Given the description of an element on the screen output the (x, y) to click on. 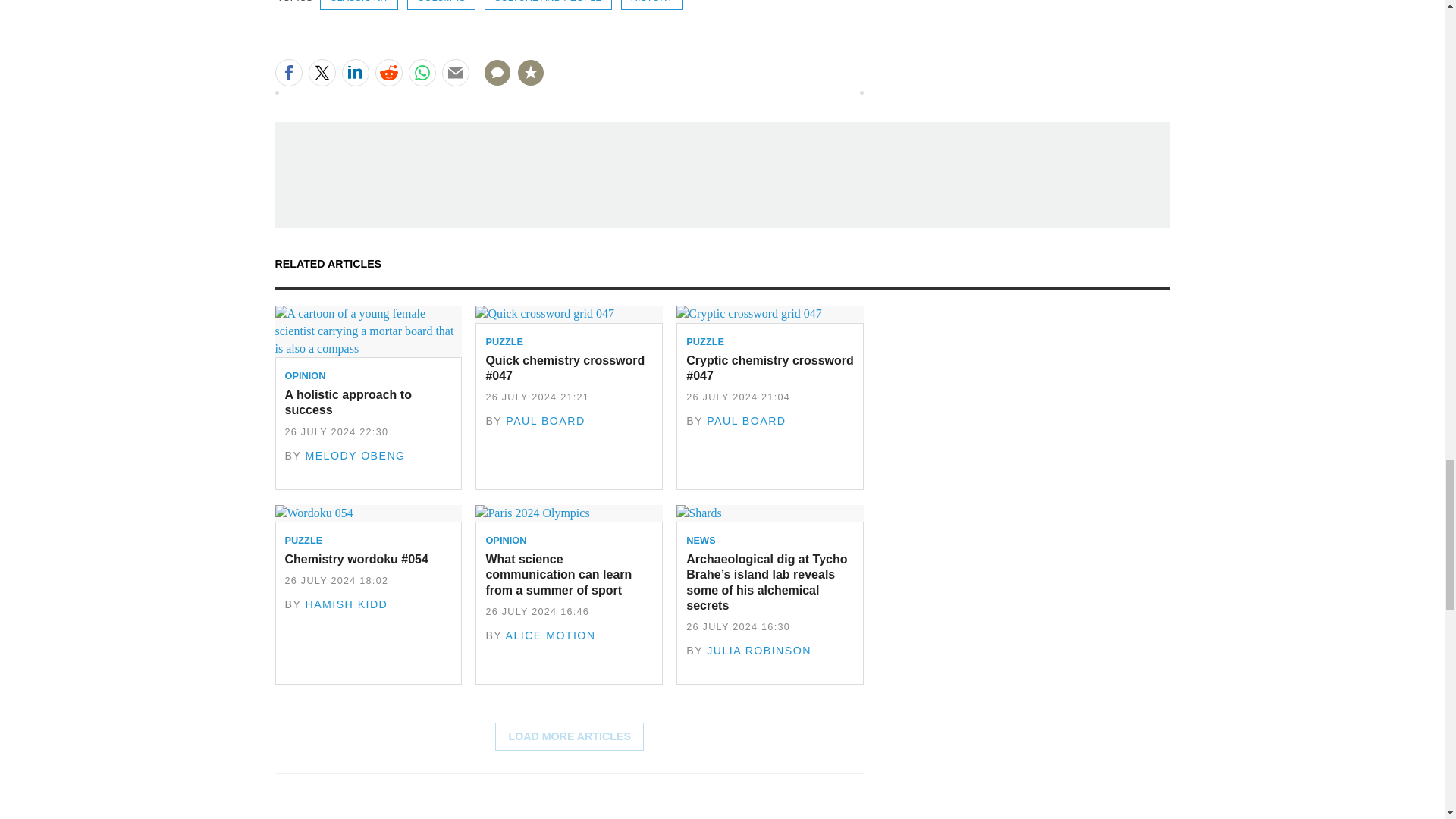
Share this on WhatsApp (421, 72)
Share this on Facebook (288, 72)
Share this by email (454, 72)
Share this on Reddit (387, 72)
Share this on LinkedIn (354, 72)
NO COMMENTS (492, 81)
